Given the description of an element on the screen output the (x, y) to click on. 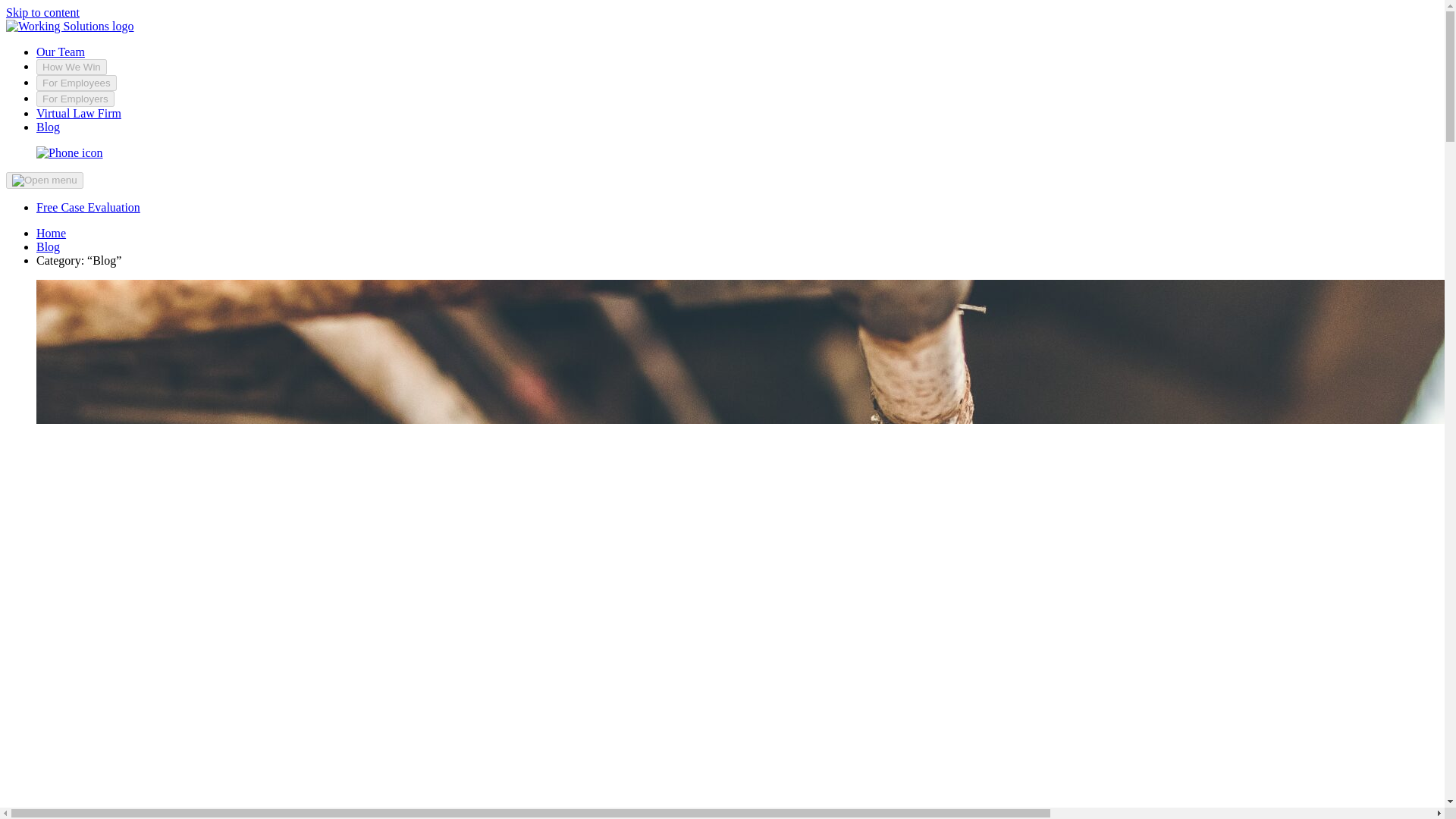
For Employees (76, 82)
For Employers (75, 98)
Our Team (60, 51)
How We Win (71, 66)
Free Case Evaluation (87, 206)
Skip to content (42, 11)
Blog (47, 126)
Virtual Law Firm (78, 113)
